Given the description of an element on the screen output the (x, y) to click on. 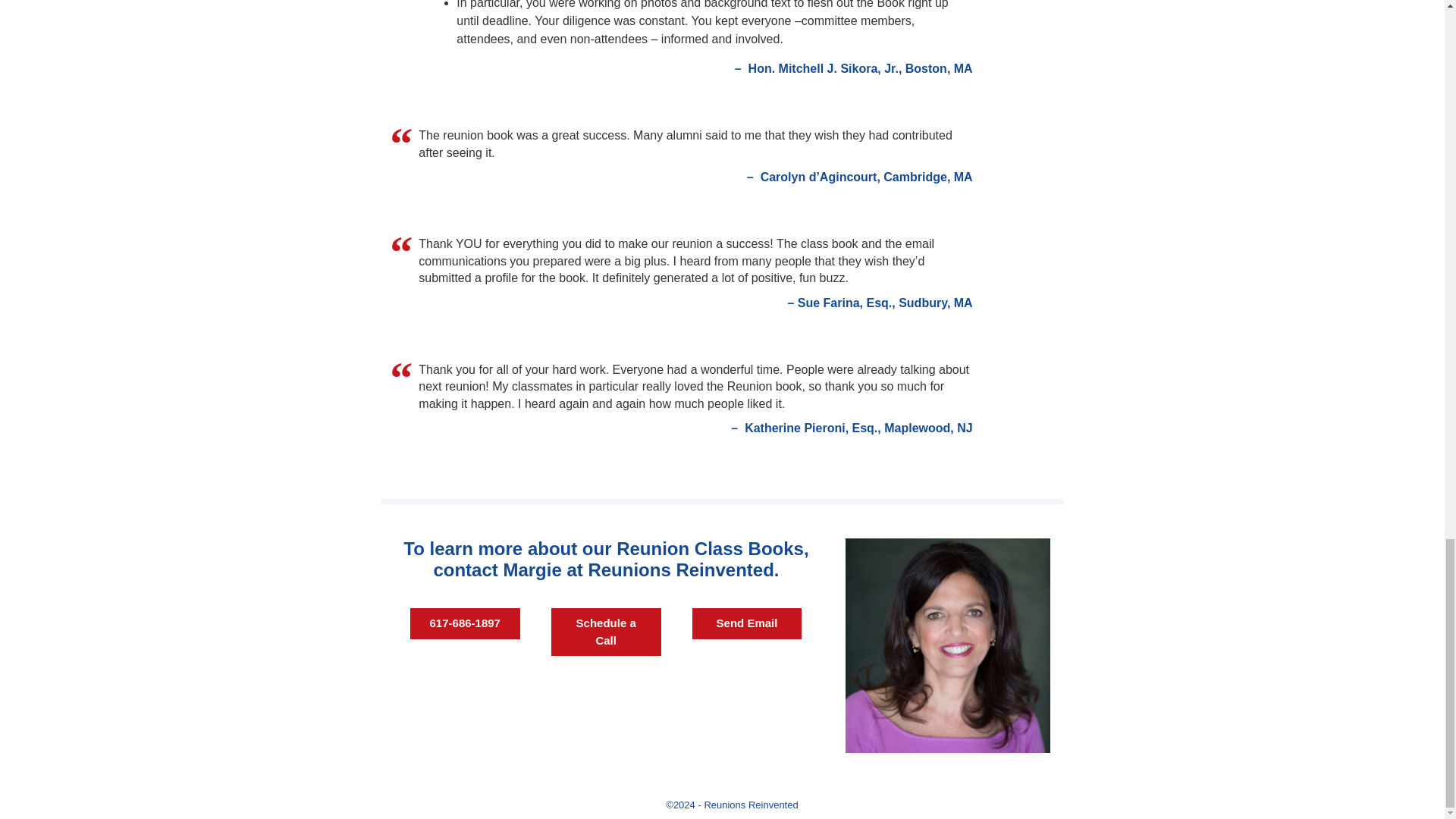
Reunions Reinvented (750, 804)
Send Email (747, 623)
Schedule a Call (606, 632)
617-686-1897 (464, 623)
Reunions Reinvented (750, 804)
